Given the description of an element on the screen output the (x, y) to click on. 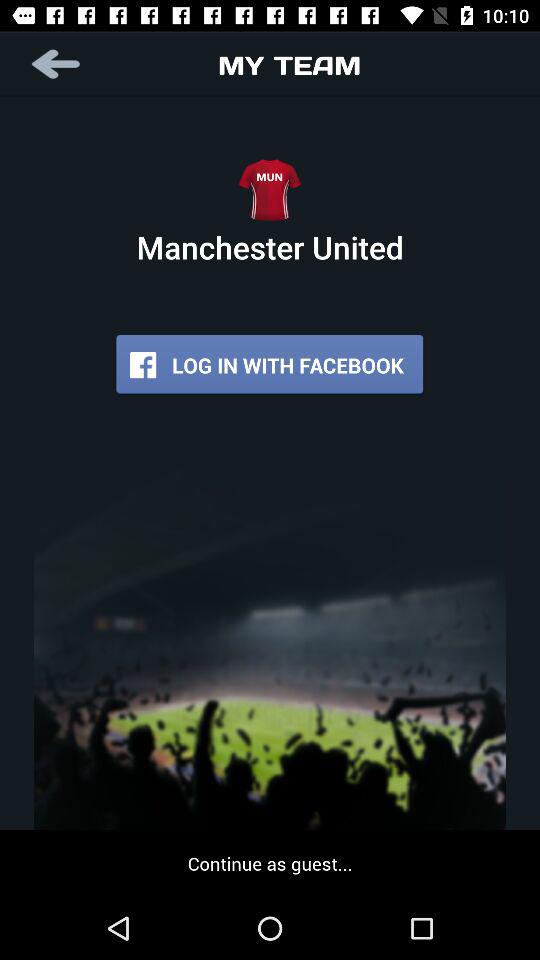
jump to log in with icon (269, 364)
